Given the description of an element on the screen output the (x, y) to click on. 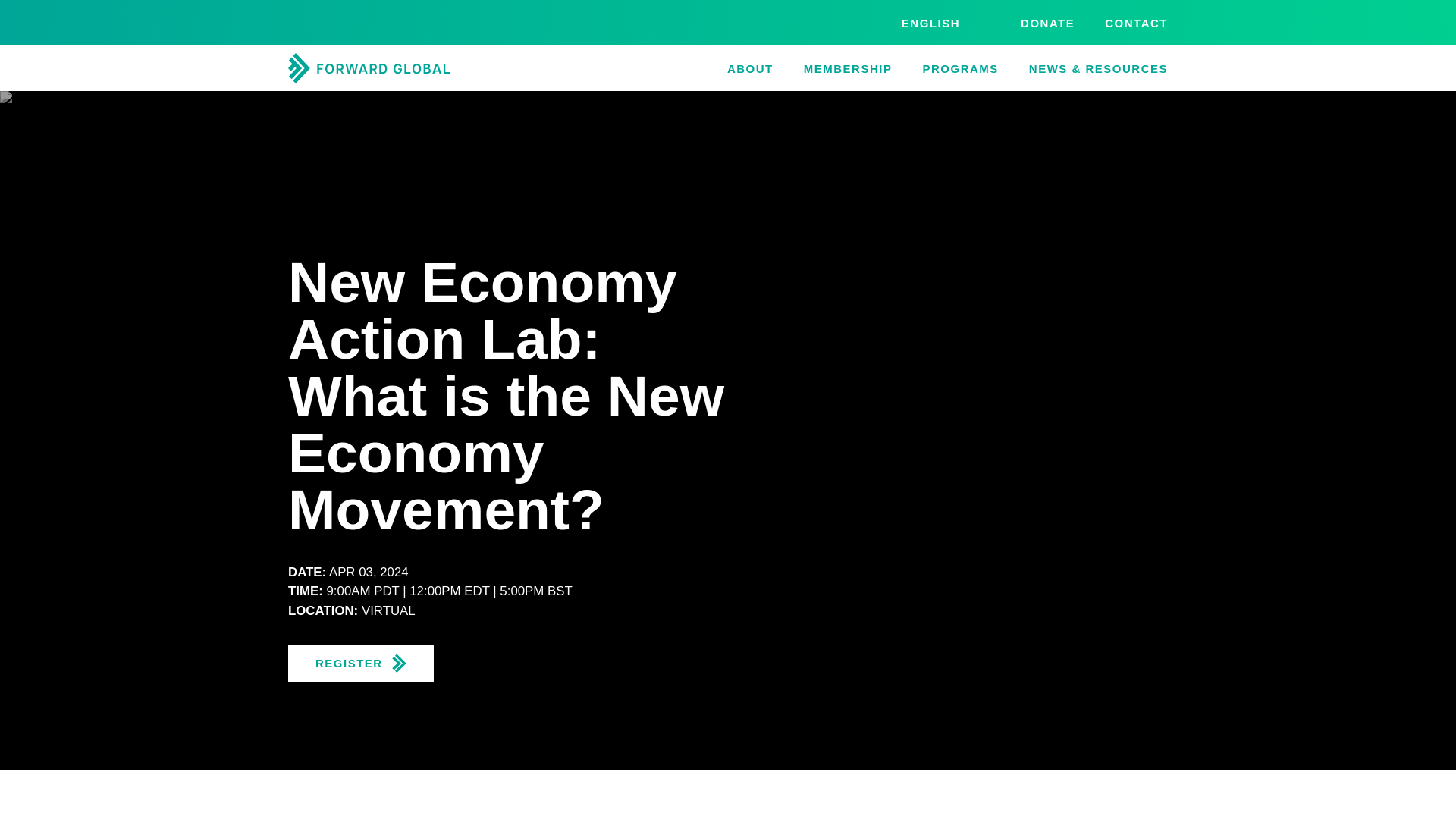
MEMBERSHIP (847, 68)
PROGRAMS (959, 68)
CONTACT (1136, 22)
DONATE (1047, 22)
English (930, 22)
ENGLISH (930, 22)
ABOUT (749, 68)
